Given the description of an element on the screen output the (x, y) to click on. 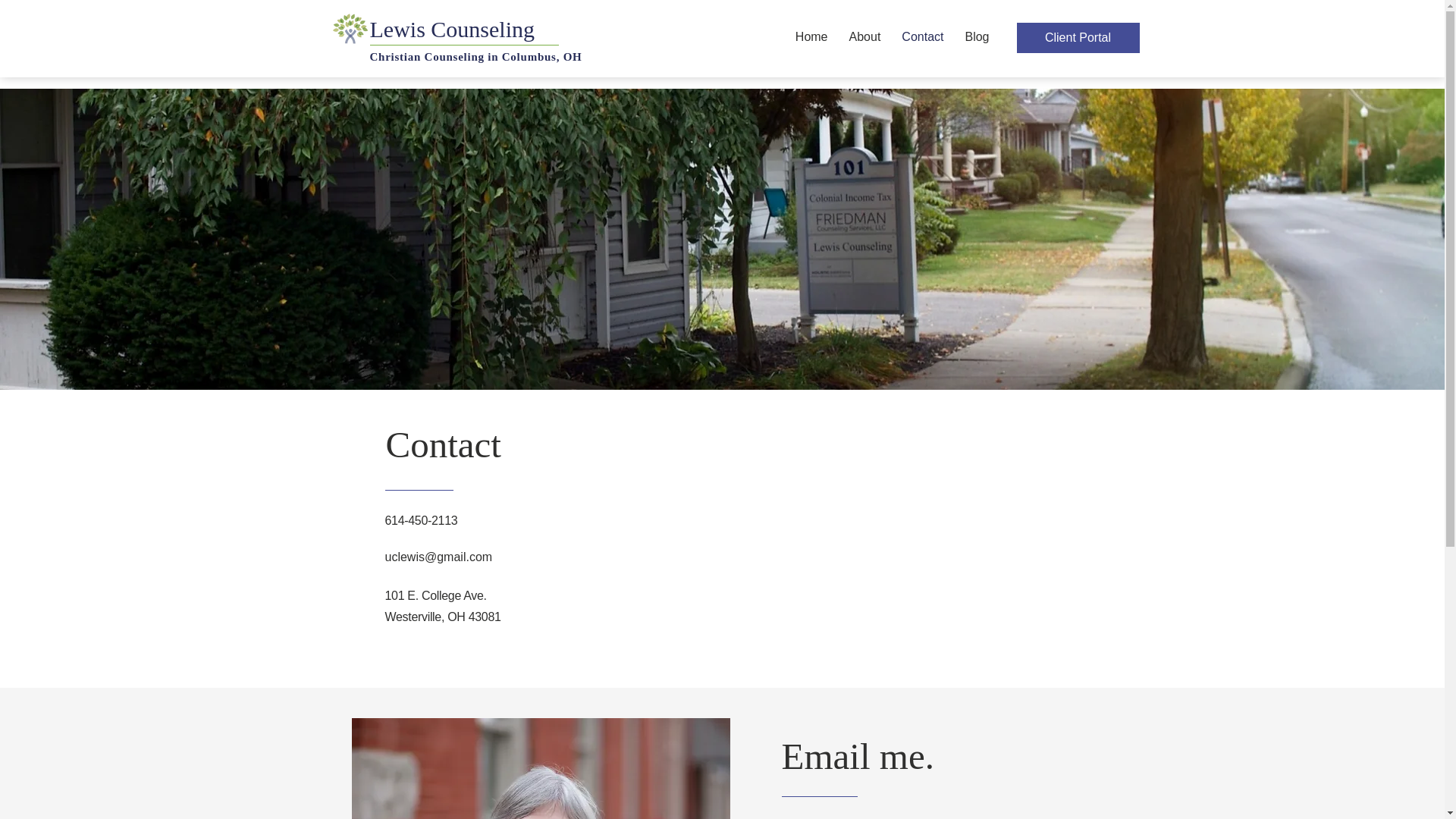
Home (811, 36)
About (864, 36)
Lewis Counseling (524, 29)
Blog (975, 36)
Lewis Counseling, Christian Counseling in Columbus, Ohio (349, 27)
Client Portal (1077, 37)
Google Maps (845, 527)
Contact (921, 36)
